Given the description of an element on the screen output the (x, y) to click on. 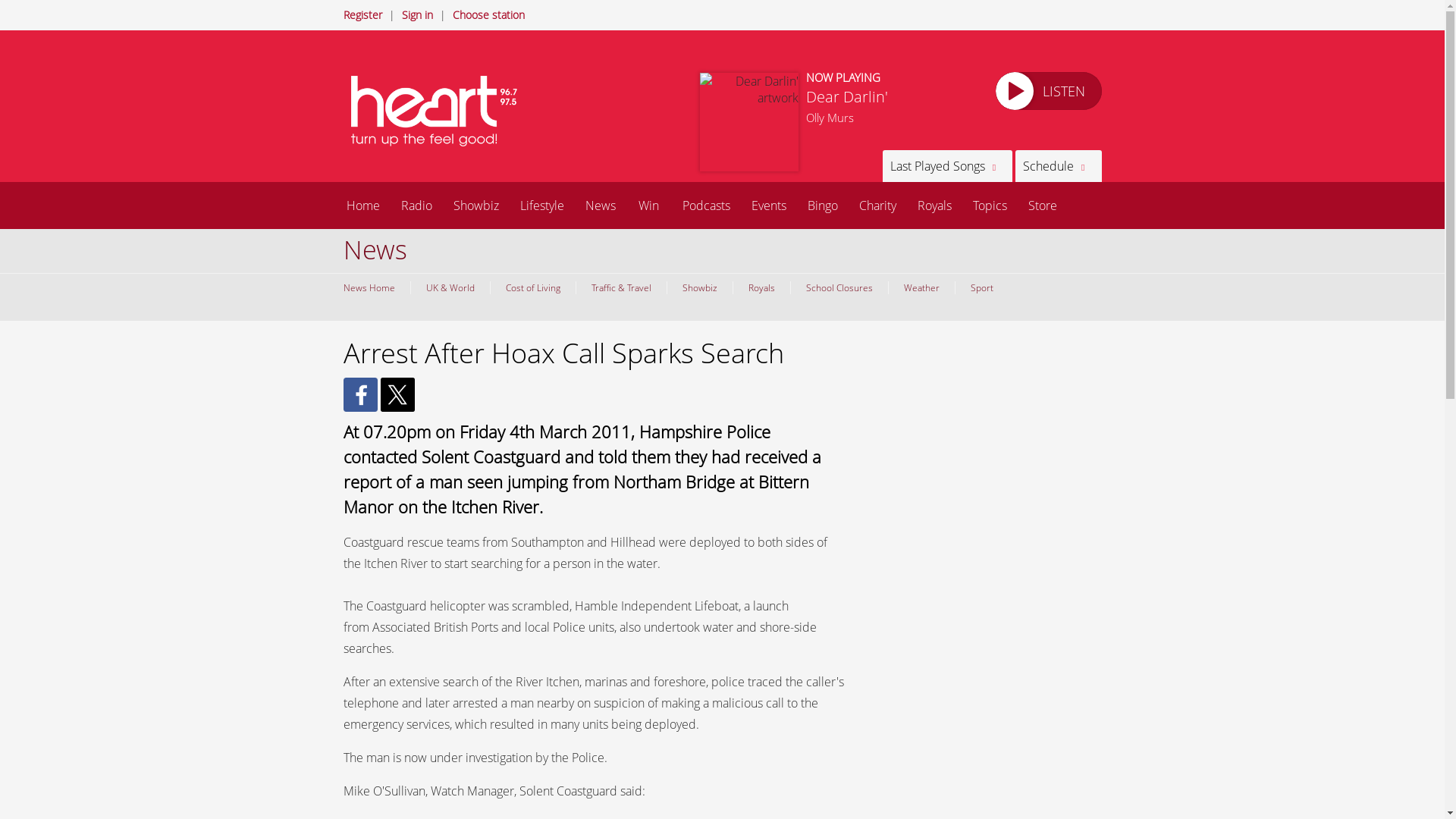
Schedule (1057, 165)
News (600, 205)
School Closures (839, 287)
Bingo (821, 205)
Sign in (416, 14)
Royals (761, 287)
News Home (371, 287)
Podcasts (706, 205)
Topics (988, 205)
Choose station (487, 14)
Last Played Songs (946, 165)
Showbiz (698, 287)
Store (1042, 205)
Cost of Living (532, 287)
Register (361, 14)
